Given the description of an element on the screen output the (x, y) to click on. 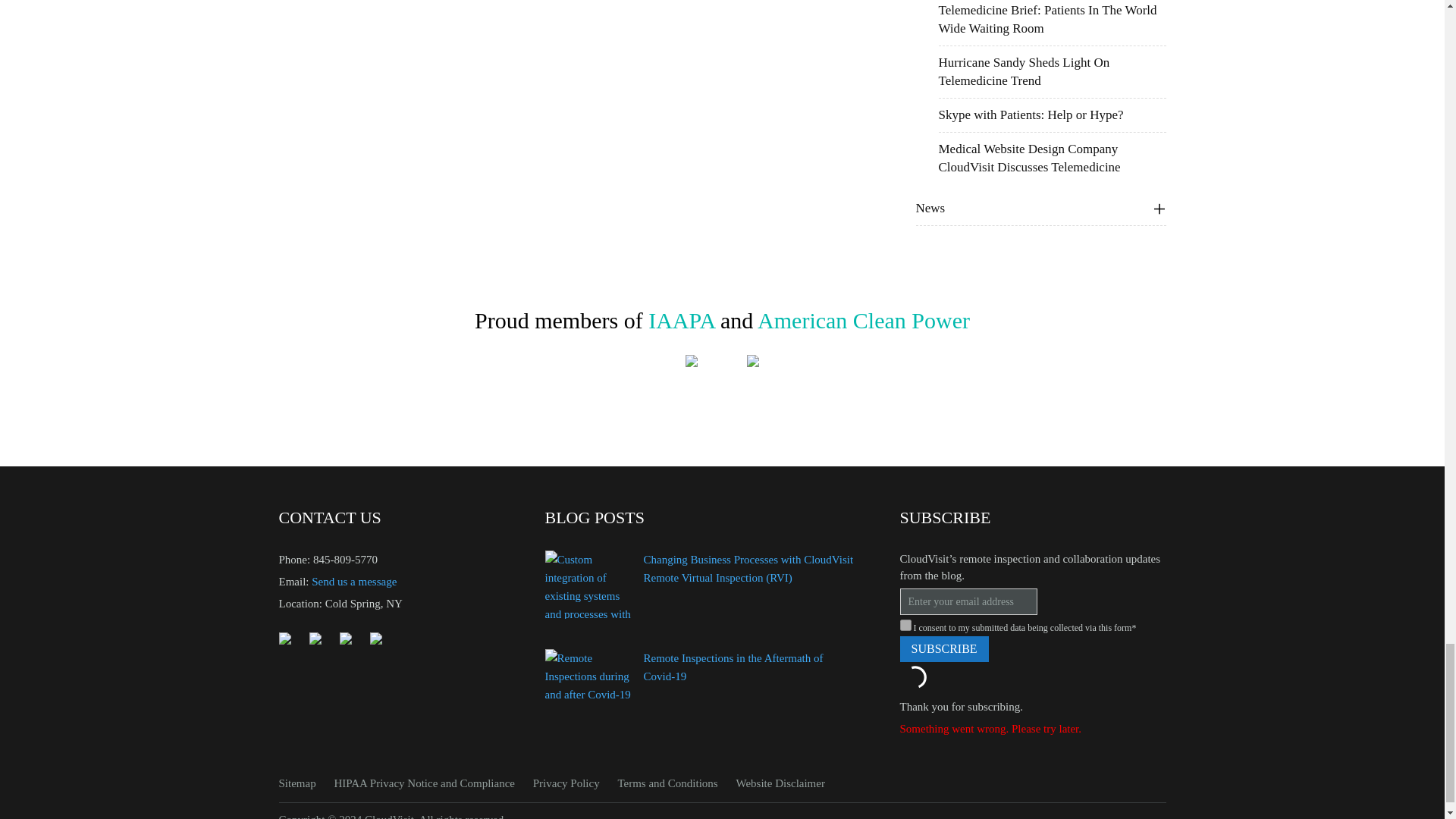
SUBSCRIBE (943, 648)
on (905, 624)
easy-change-processes-with-CloudVisit-RVI (589, 584)
Enter your email address (967, 601)
Read more (748, 568)
Read more (732, 666)
